Given the description of an element on the screen output the (x, y) to click on. 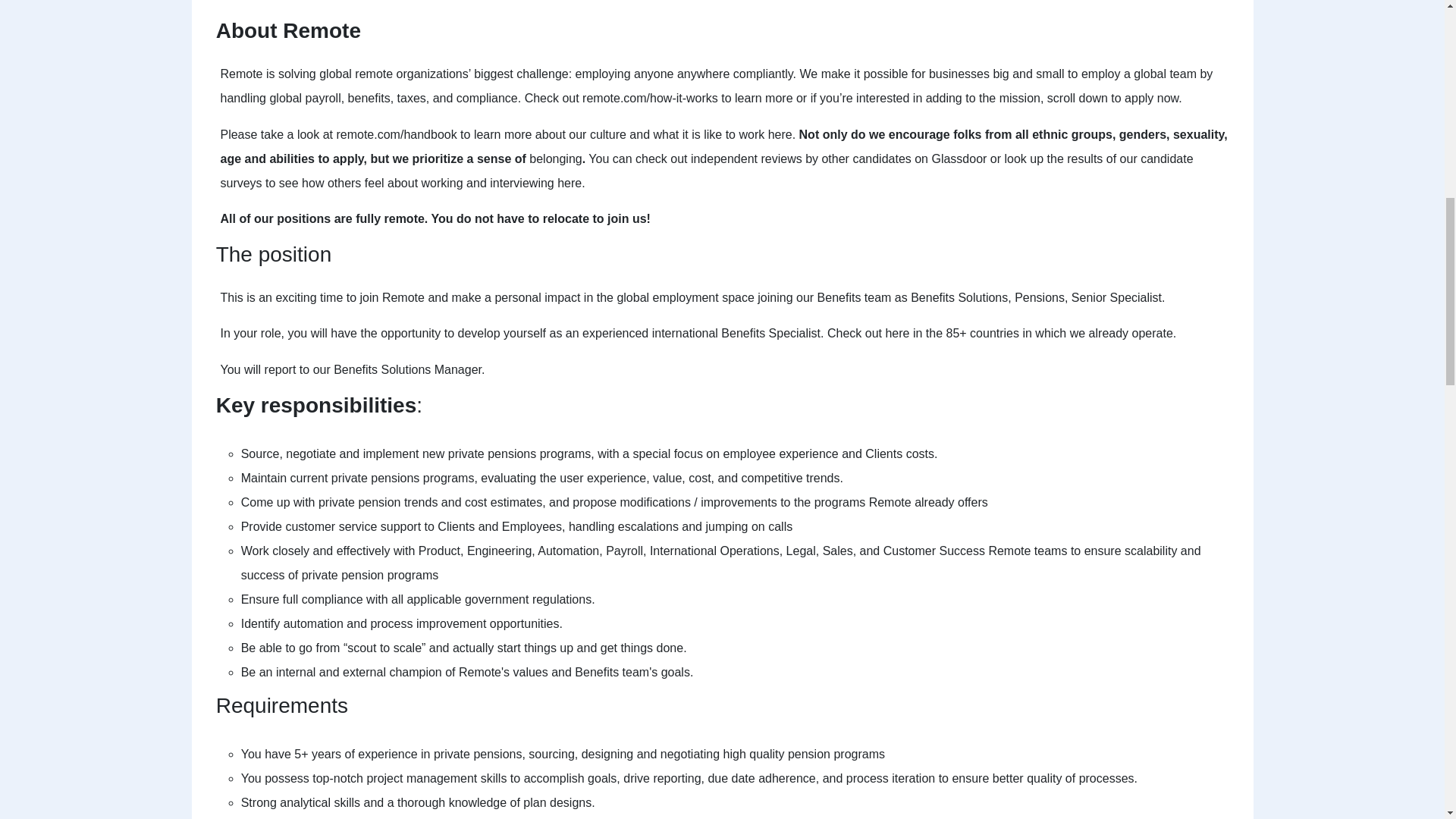
results of our candidate surveys (707, 170)
belonging (554, 158)
Glassdoor (959, 158)
here (896, 332)
